Given the description of an element on the screen output the (x, y) to click on. 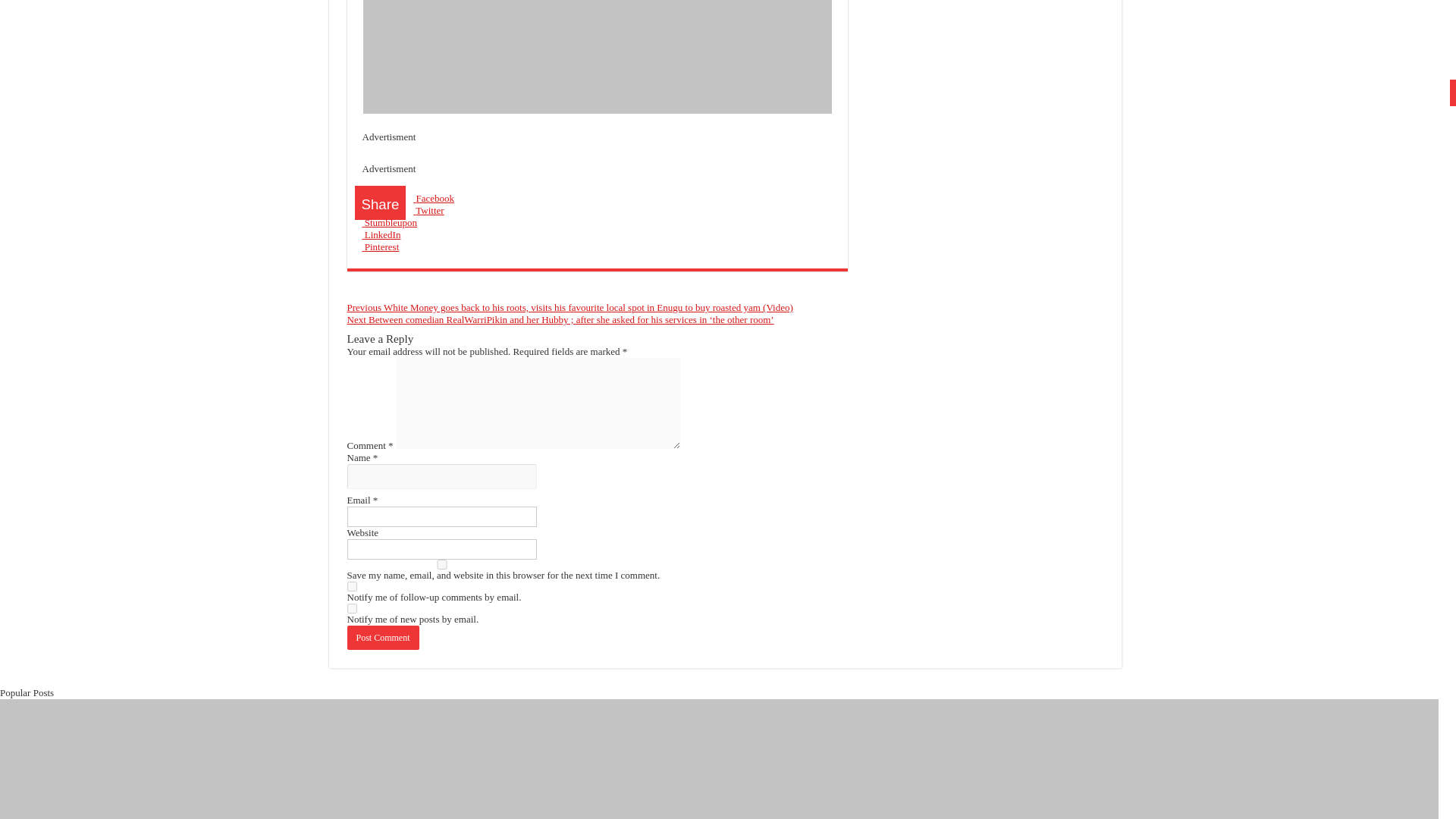
yes (442, 564)
Post Comment (383, 637)
subscribe (351, 586)
subscribe (351, 608)
